Given the description of an element on the screen output the (x, y) to click on. 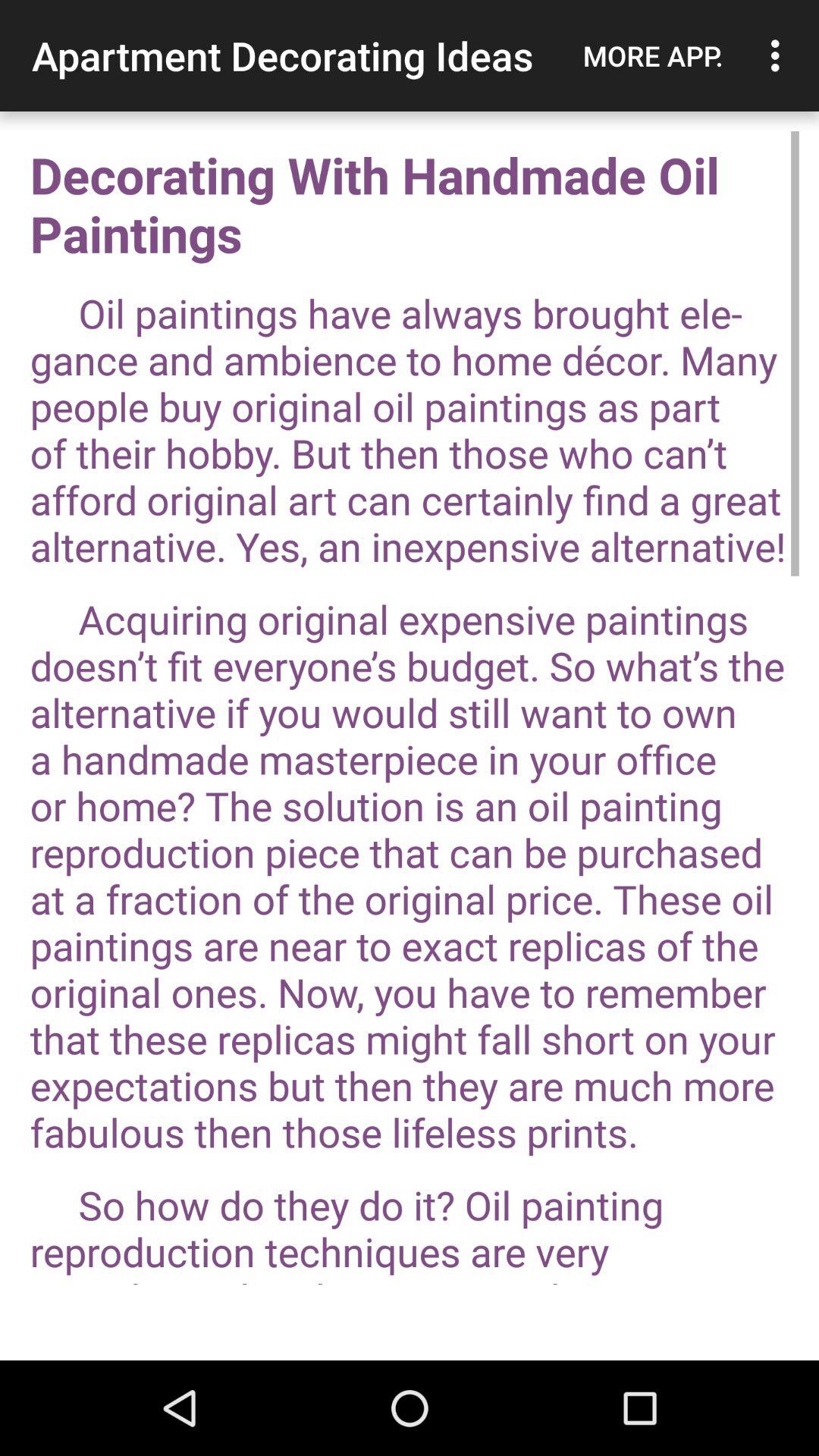
select the more app. (653, 55)
